Given the description of an element on the screen output the (x, y) to click on. 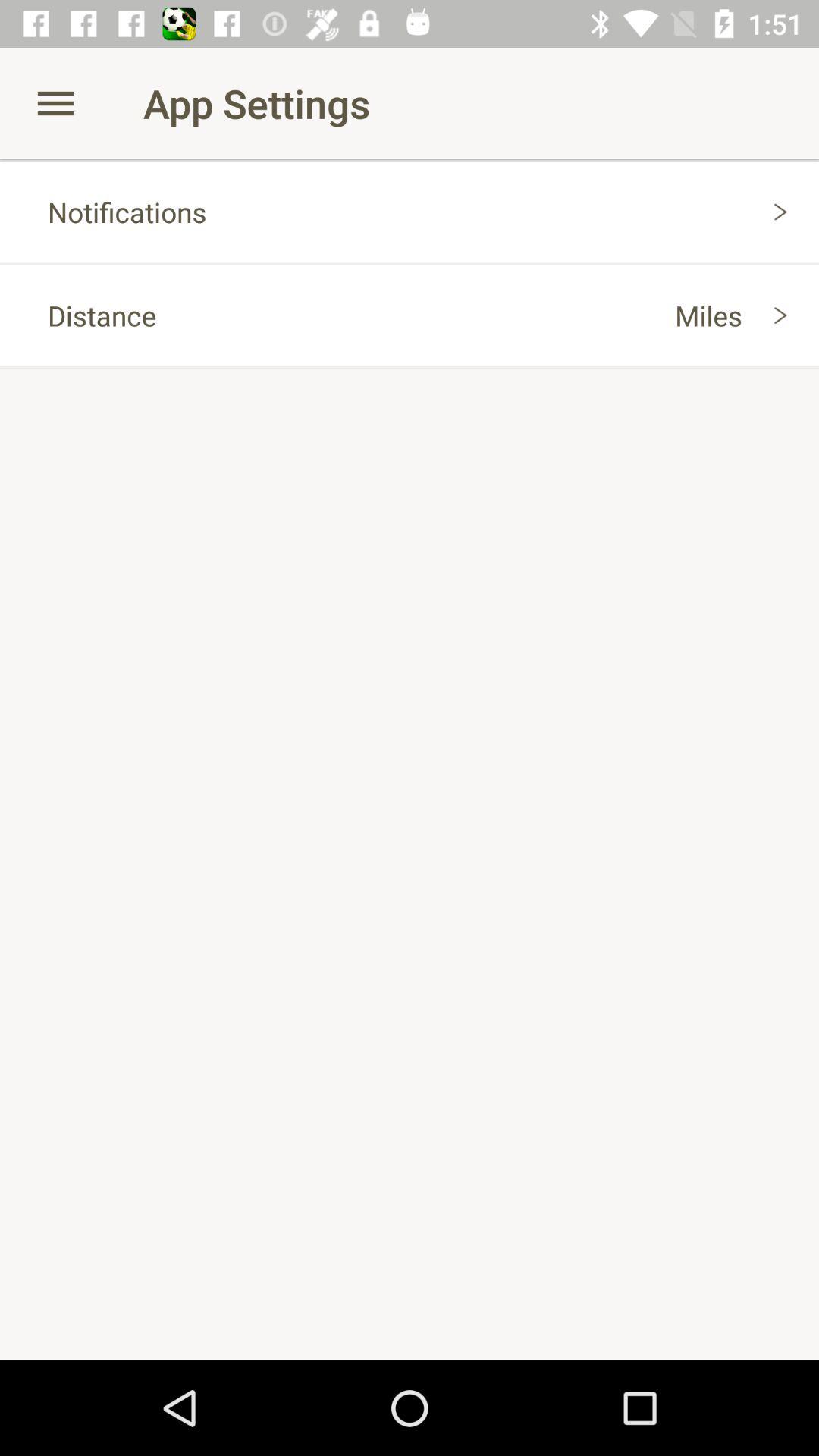
turn on icon next to app settings (55, 103)
